Given the description of an element on the screen output the (x, y) to click on. 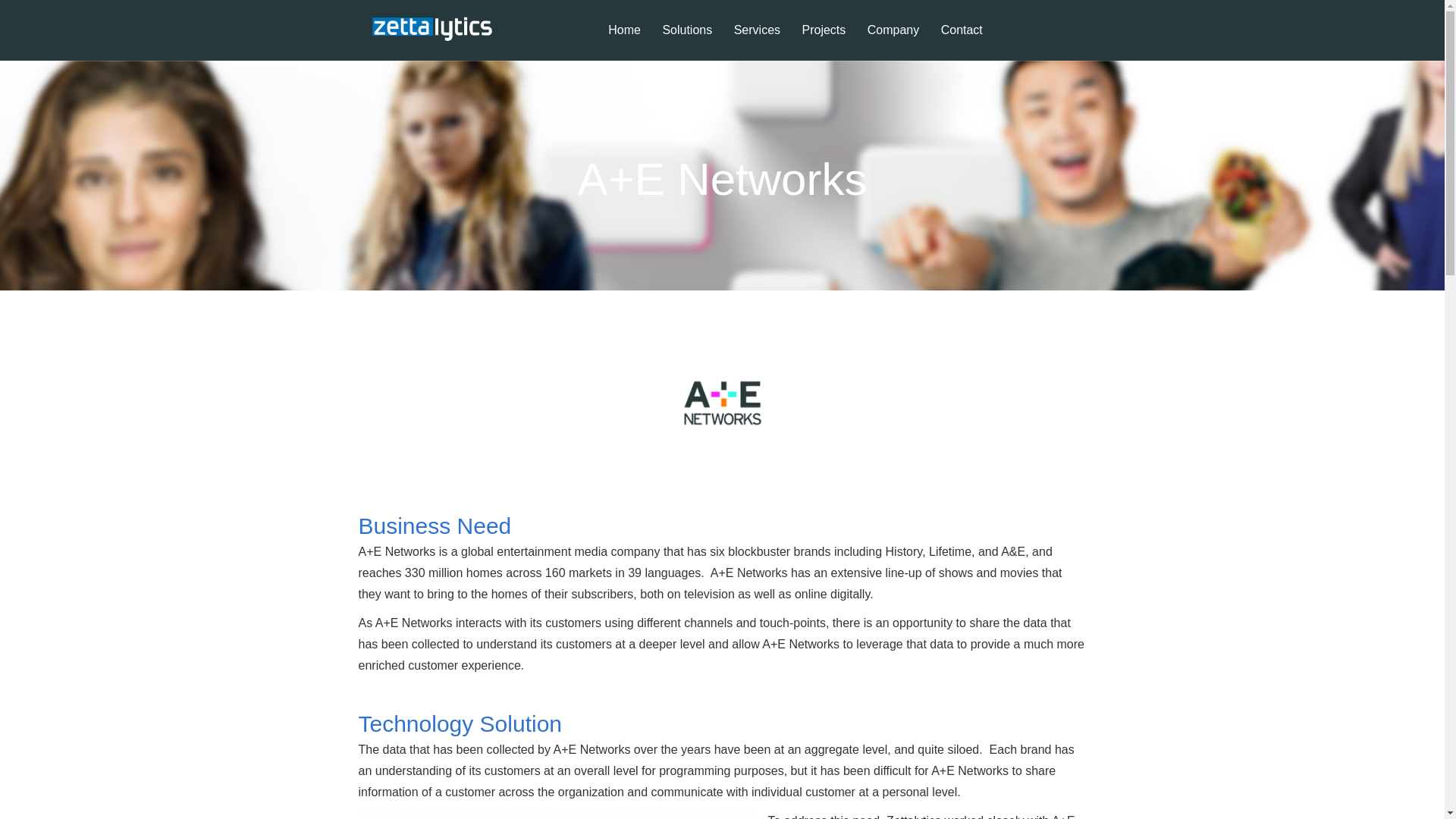
Home (623, 42)
Solutions (686, 42)
Contact (961, 42)
Projects (823, 42)
Company (893, 42)
Services (757, 42)
